Given the description of an element on the screen output the (x, y) to click on. 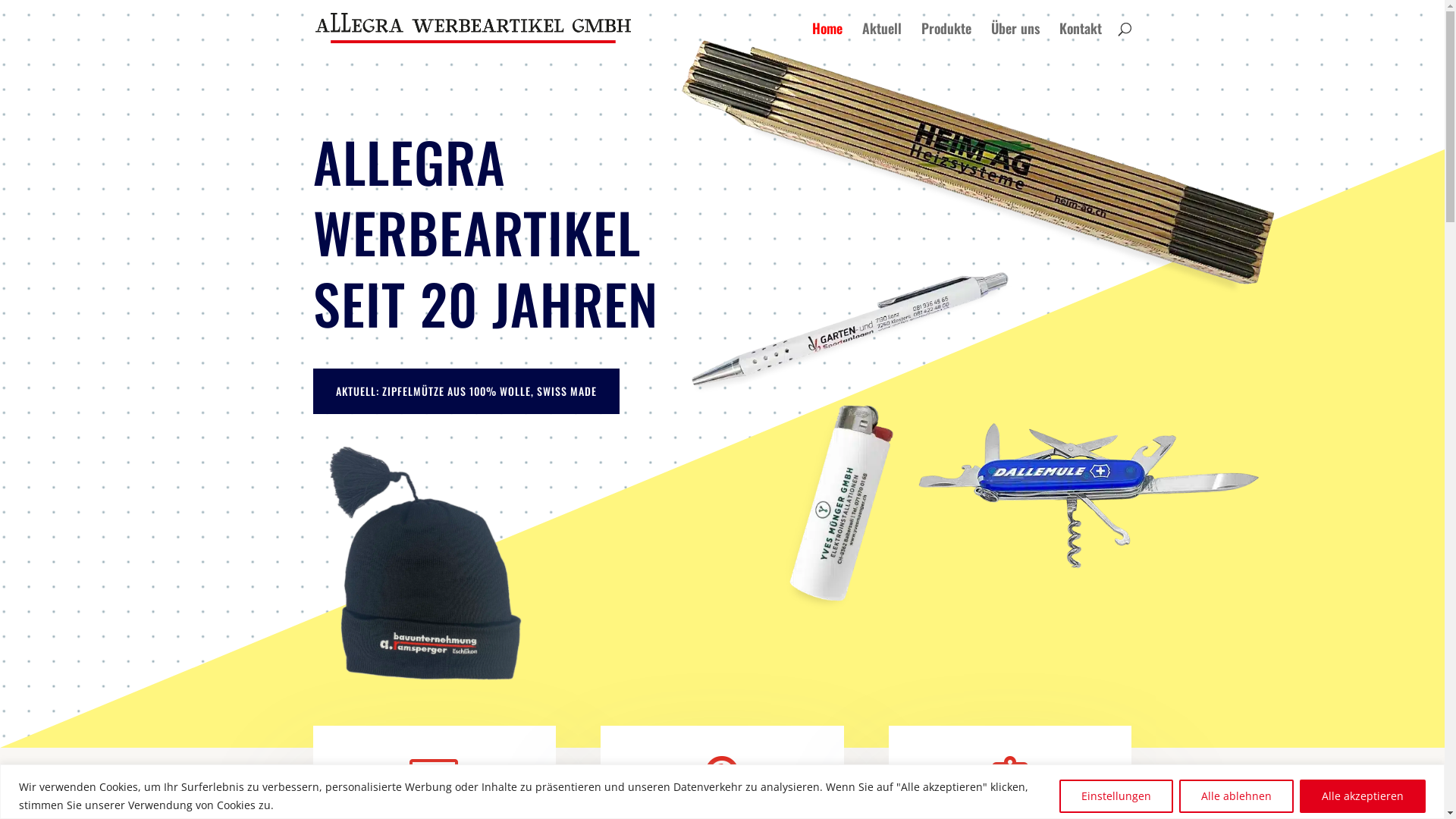
Alle akzeptieren Element type: text (1362, 795)
muetze Element type: hover (421, 561)
Produkte Element type: text (945, 39)
Aktuell Element type: text (880, 39)
Kontakt Element type: text (1079, 39)
header Element type: hover (978, 324)
Alle ablehnen Element type: text (1236, 795)
Einstellungen Element type: text (1116, 795)
Home Element type: text (826, 39)
